Given the description of an element on the screen output the (x, y) to click on. 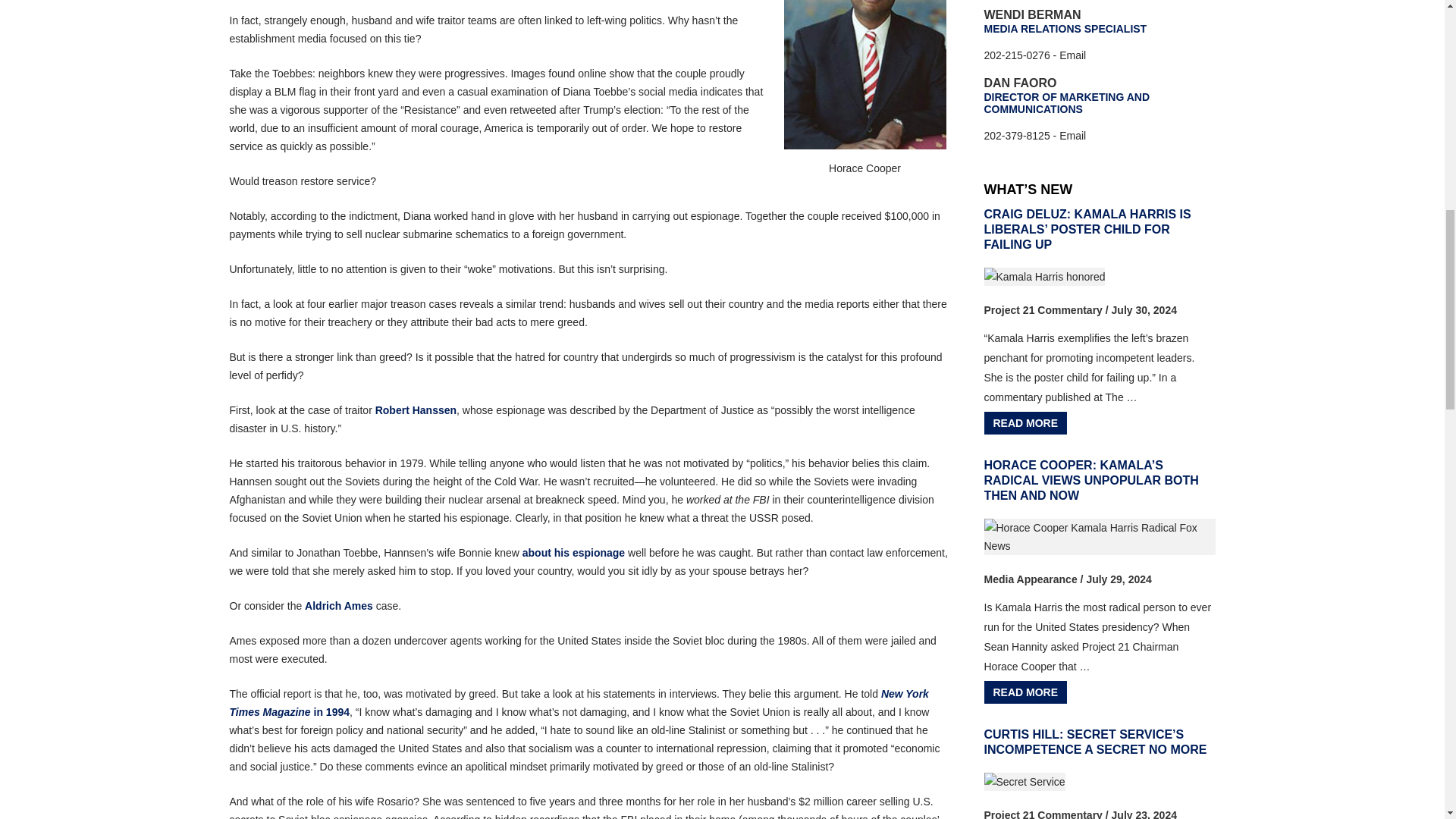
Project 21 Commentary (1043, 309)
Project 21 Commentary (1043, 814)
about his espionage (573, 552)
Aldrich Ames (338, 605)
Media Appearance (1030, 579)
New York Times Magazine in 1994 (578, 702)
Robert Hanssen (416, 410)
